Given the description of an element on the screen output the (x, y) to click on. 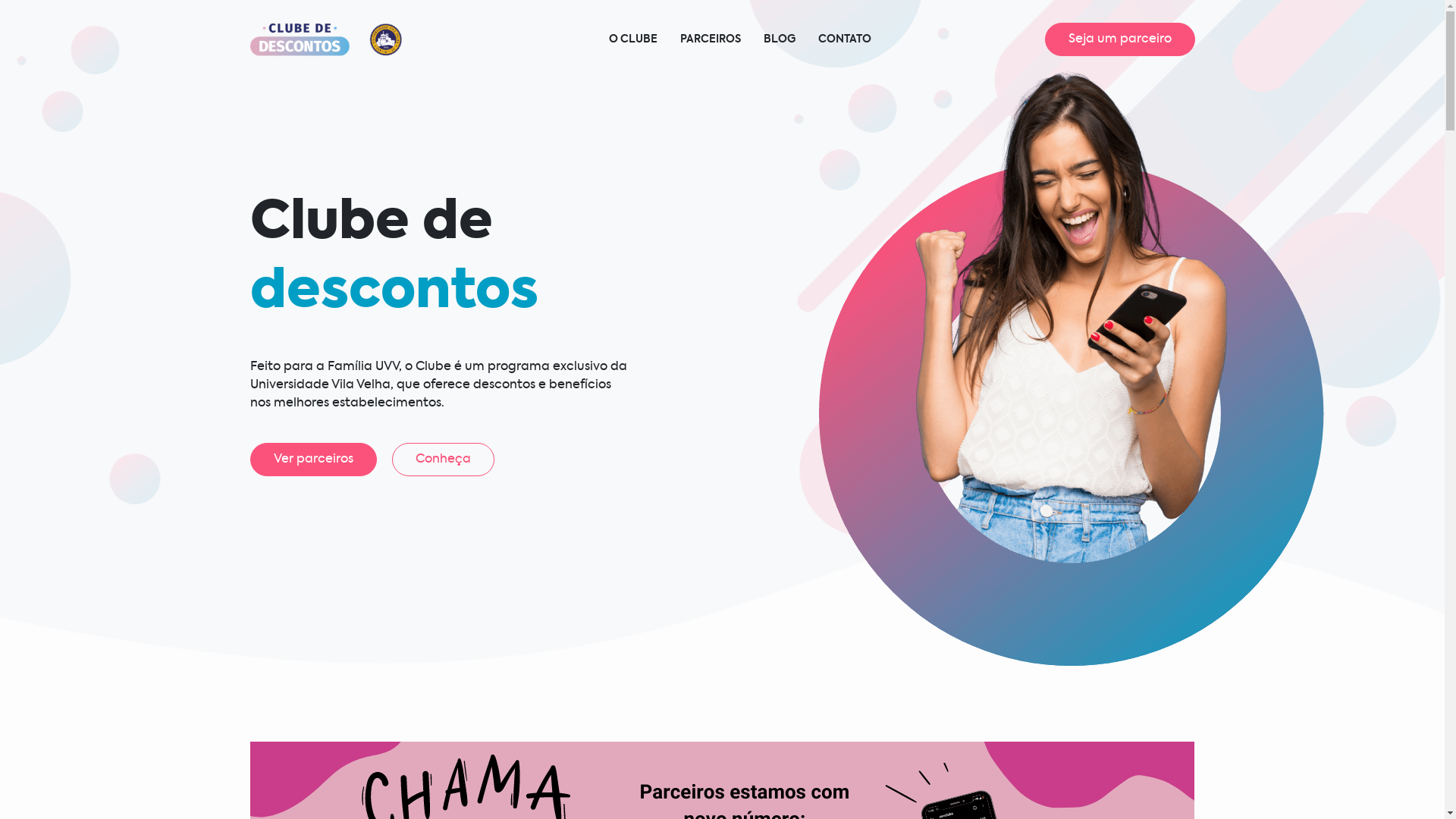
PARCEIROS Element type: text (710, 39)
BLOG Element type: text (779, 39)
CONTATO Element type: text (844, 39)
O CLUBE Element type: text (632, 39)
Seja um parceiro Element type: text (1119, 39)
Ver parceiros Element type: text (313, 459)
